Given the description of an element on the screen output the (x, y) to click on. 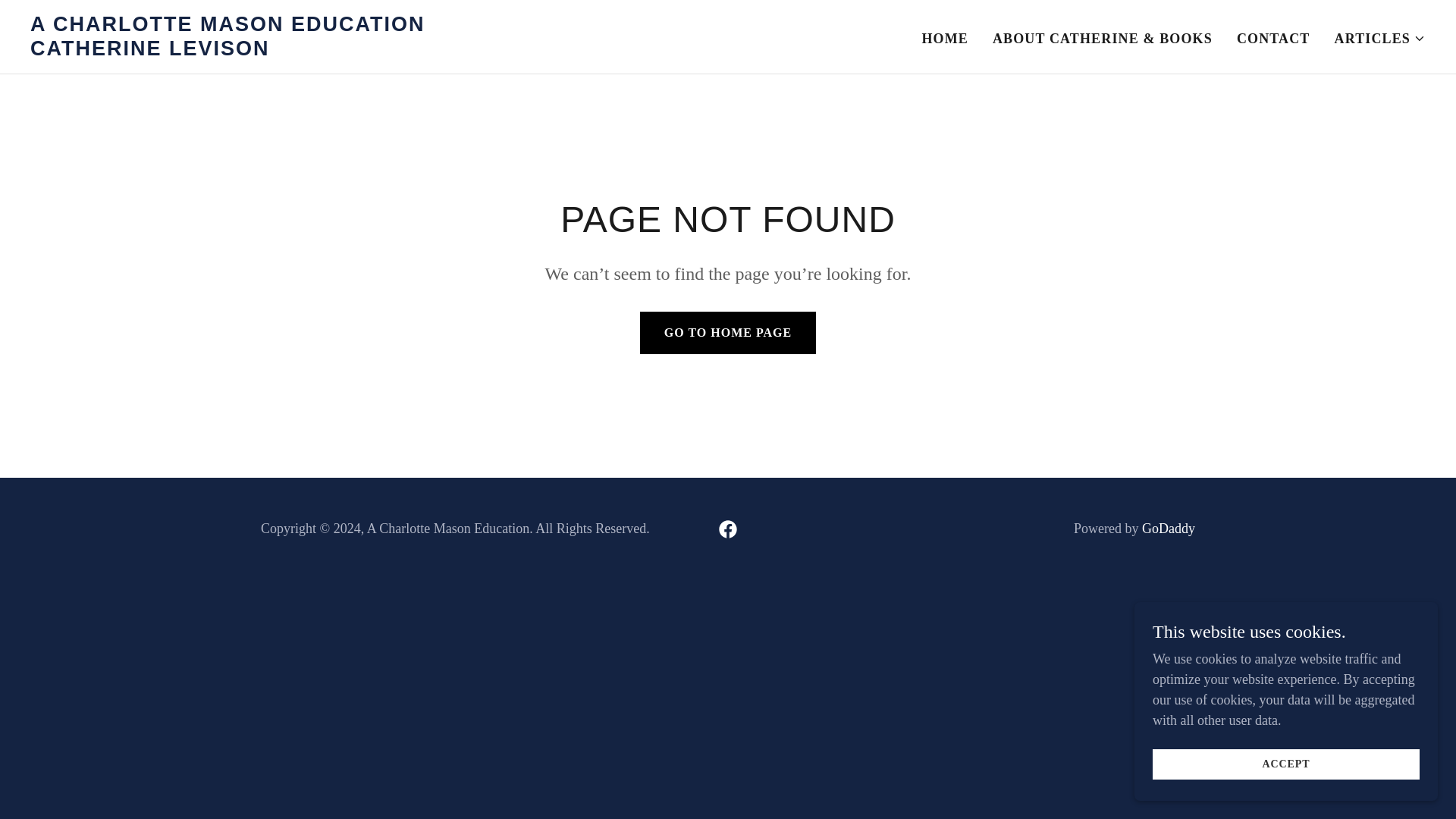
HOME (944, 38)
CONTACT (1272, 38)
ARTICLES (274, 50)
